Given the description of an element on the screen output the (x, y) to click on. 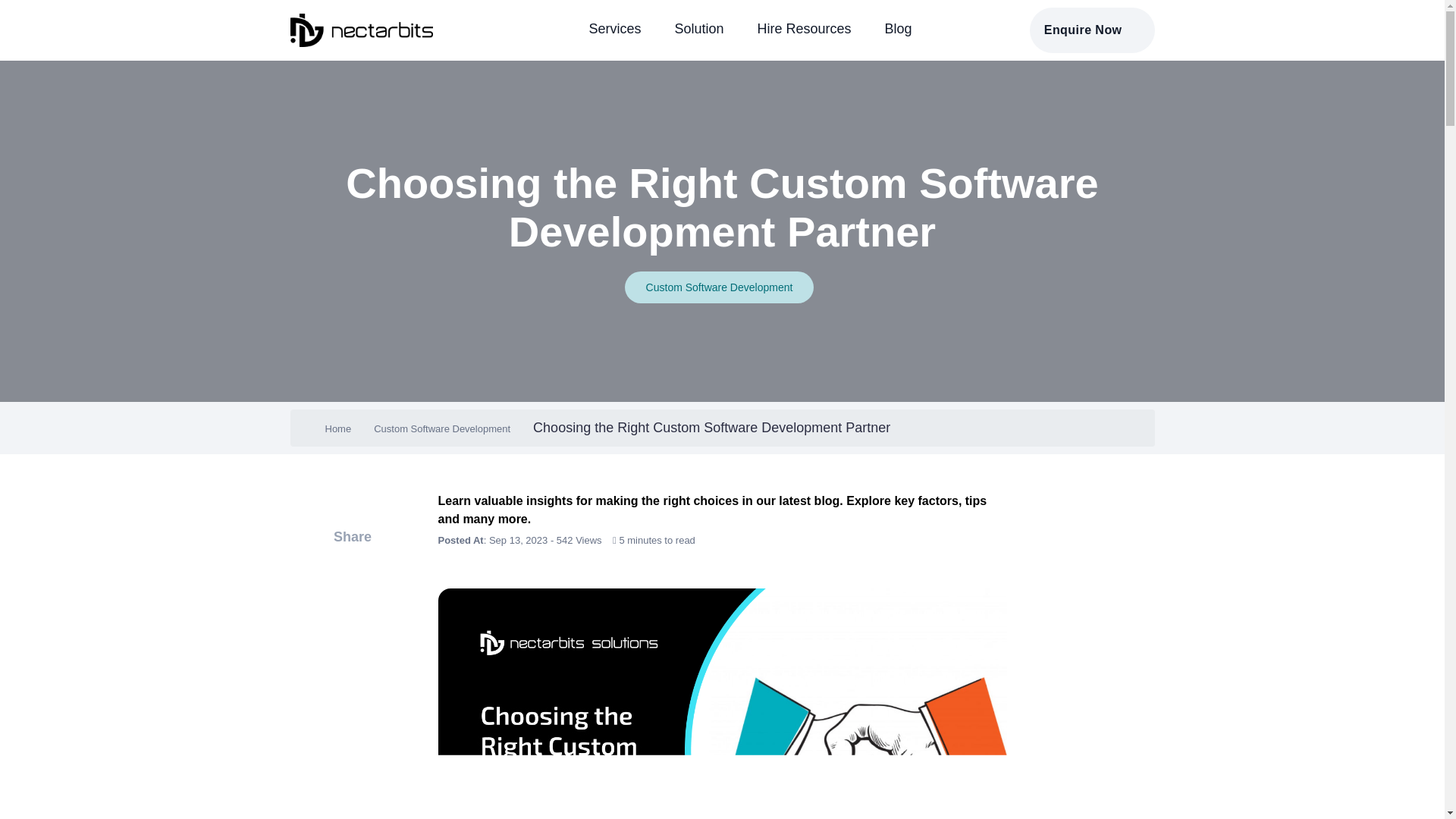
Blog (897, 28)
Solution (698, 28)
Enquire Now (1091, 30)
Custom Software Development (442, 428)
Home (337, 428)
Services (615, 28)
Hire Resources (804, 28)
Custom Software Development (718, 287)
